Given the description of an element on the screen output the (x, y) to click on. 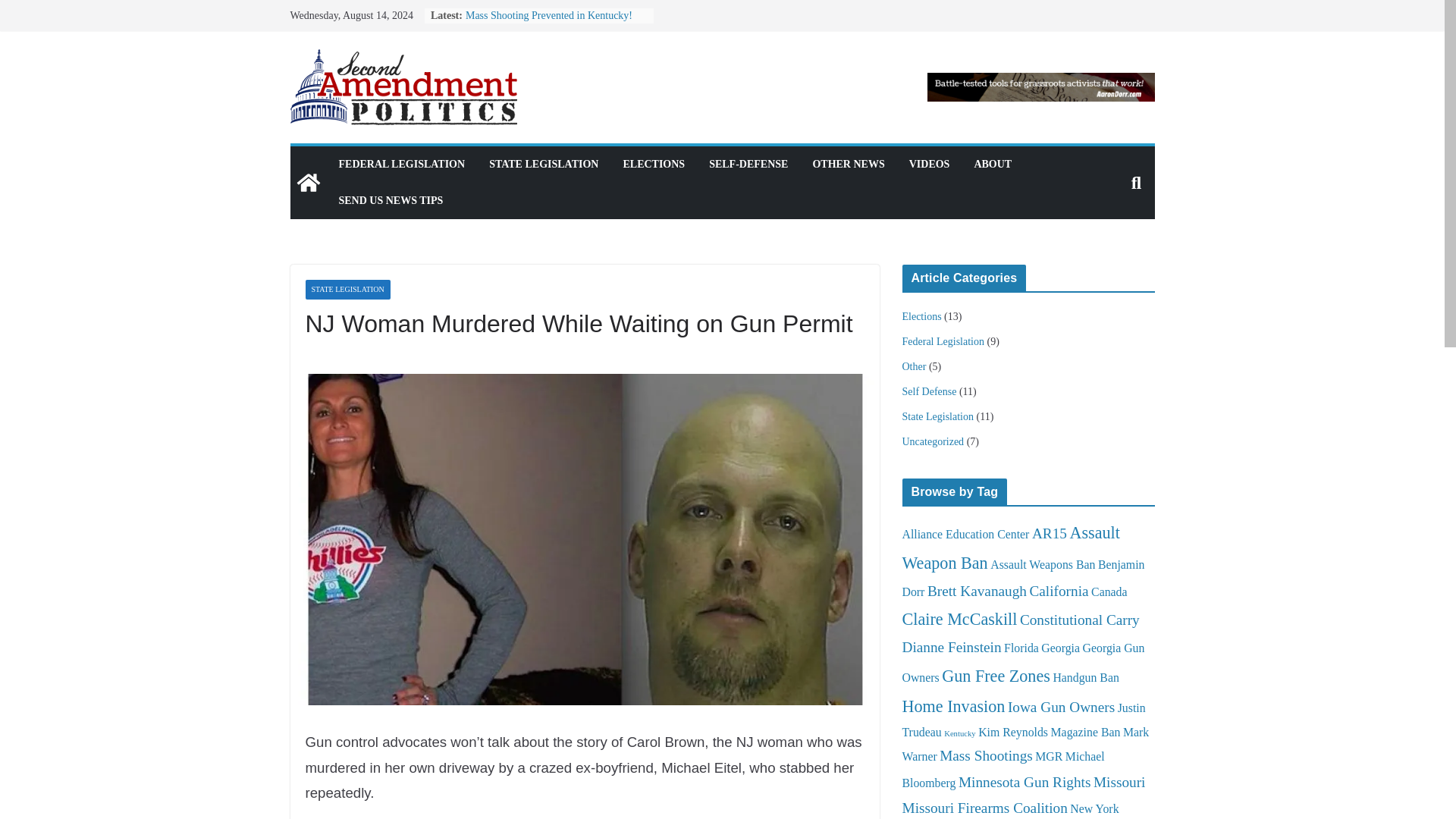
AR15 (1049, 533)
Other (914, 366)
Mass Shooting Prevented in Kentucky! (548, 15)
STATE LEGISLATION (543, 164)
Federal Legislation (943, 341)
Florida (1021, 647)
Alliance Education Center (965, 533)
Benjamin Dorr (1023, 577)
Claire McCaskill (959, 618)
STATE LEGISLATION (347, 289)
